Given the description of an element on the screen output the (x, y) to click on. 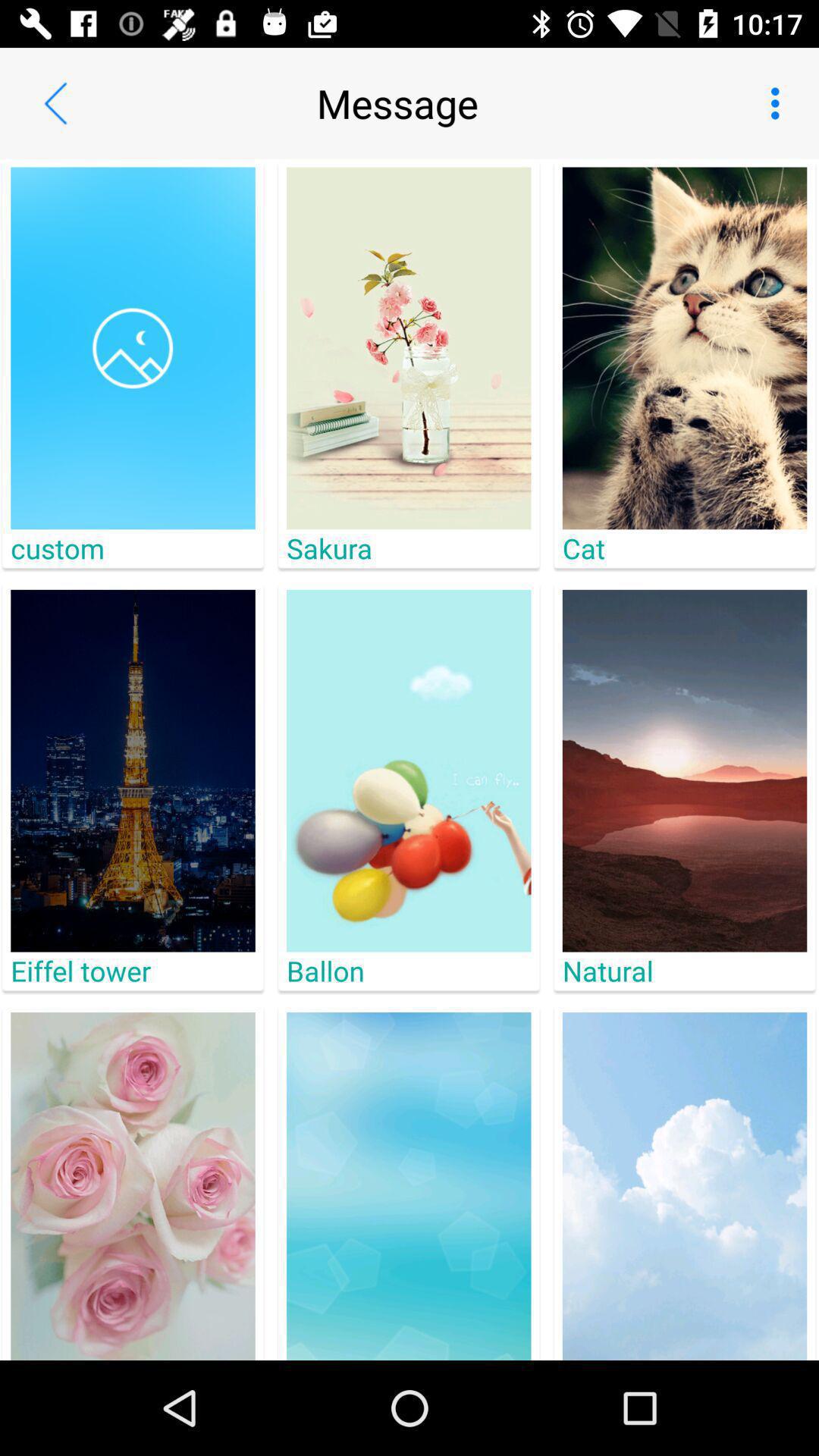
select the item to the right of the message item (779, 103)
